Given the description of an element on the screen output the (x, y) to click on. 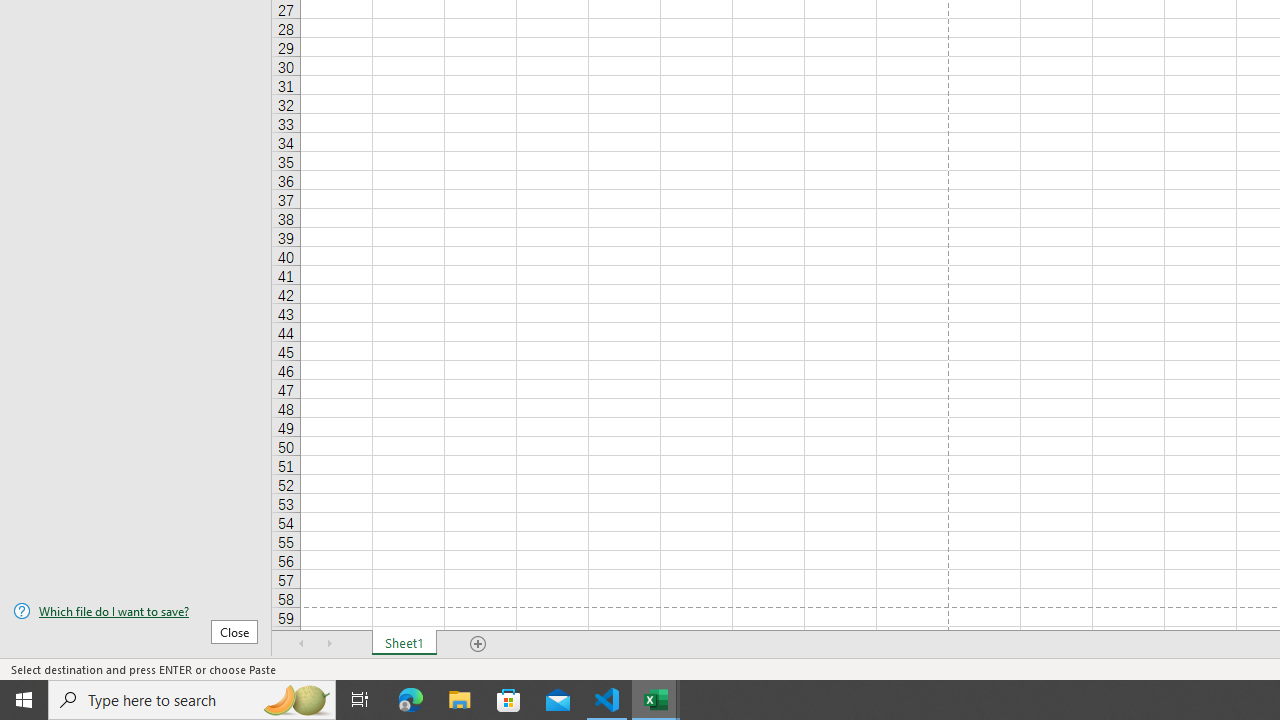
File Explorer (460, 699)
